Given the description of an element on the screen output the (x, y) to click on. 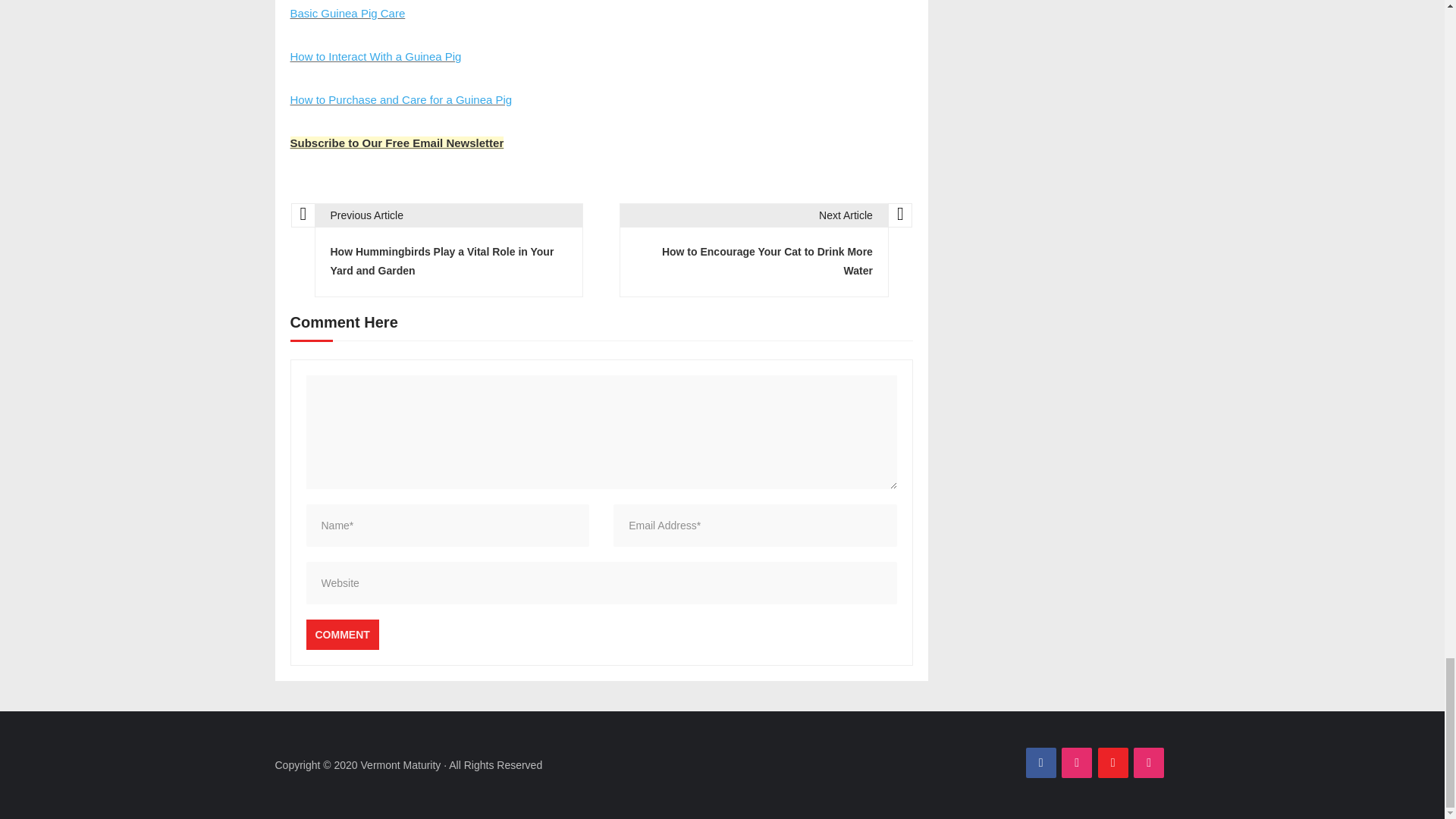
Comment (341, 634)
